Given the description of an element on the screen output the (x, y) to click on. 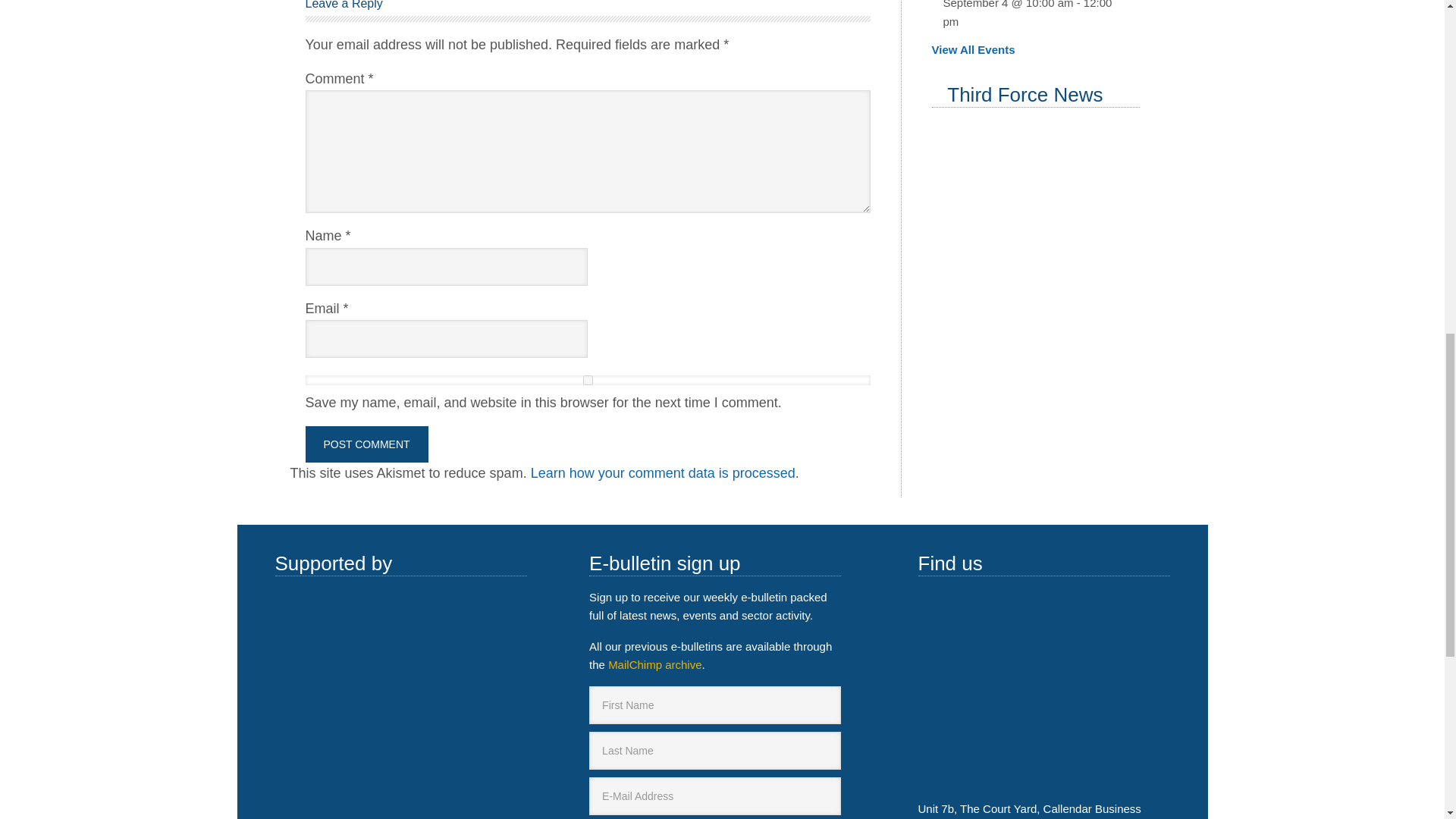
Supported by (400, 630)
Post Comment (366, 443)
yes (586, 379)
Supported by (312, 738)
Supported by (487, 630)
Supported by (312, 813)
Supported by (400, 738)
Supported by (400, 813)
Supported by (312, 630)
Supported by (487, 738)
